Given the description of an element on the screen output the (x, y) to click on. 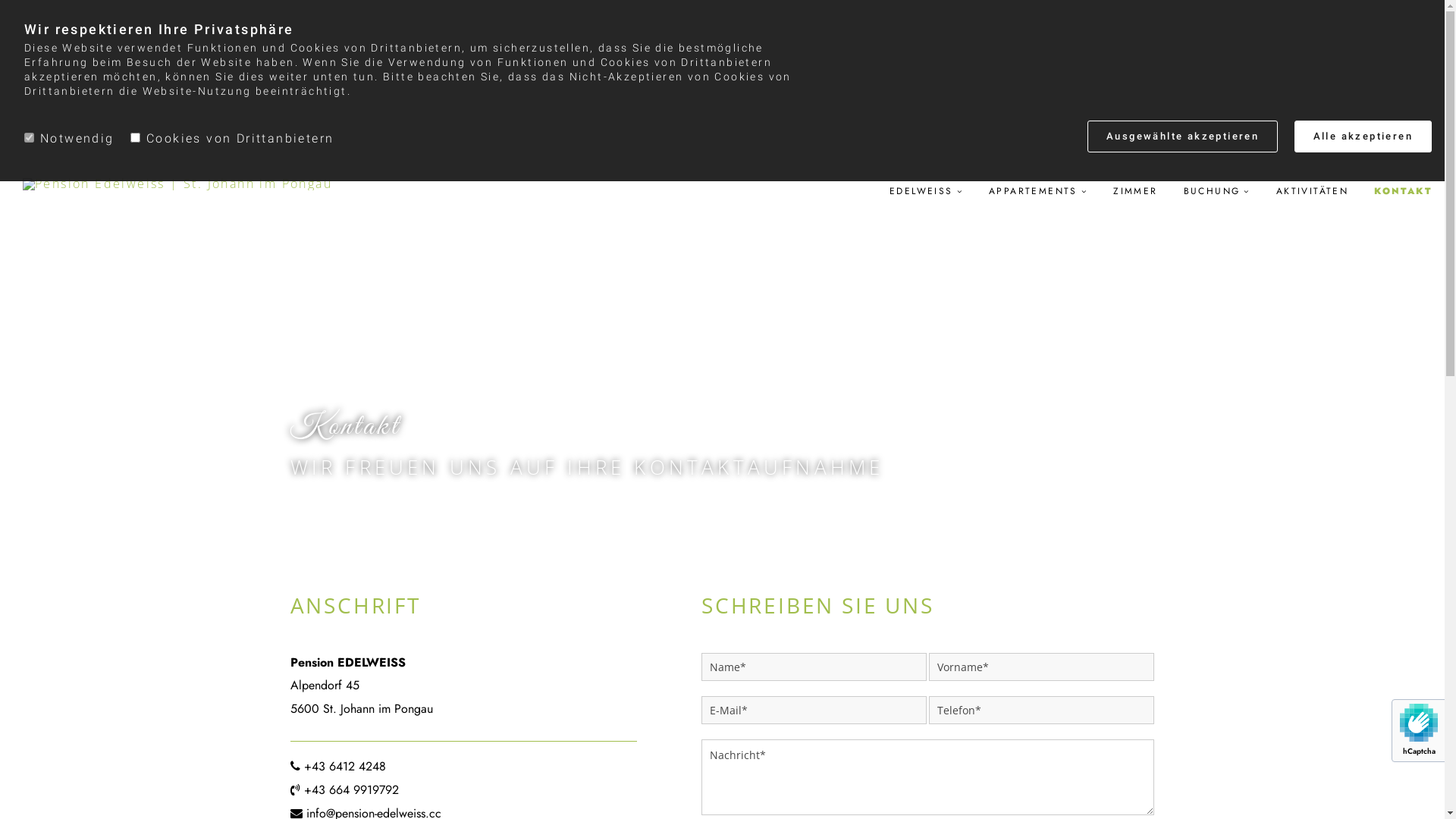
ZIMMER Element type: text (1134, 190)
EDELWEISS Element type: text (926, 190)
Alle akzeptieren Element type: text (1362, 136)
KONTAKT Element type: text (1402, 190)
+43 664 9919792 Element type: text (350, 789)
BUCHUNG Element type: text (1216, 190)
APPARTEMENTS Element type: text (1037, 190)
+43 6412 4248 Element type: text (344, 766)
